Given the description of an element on the screen output the (x, y) to click on. 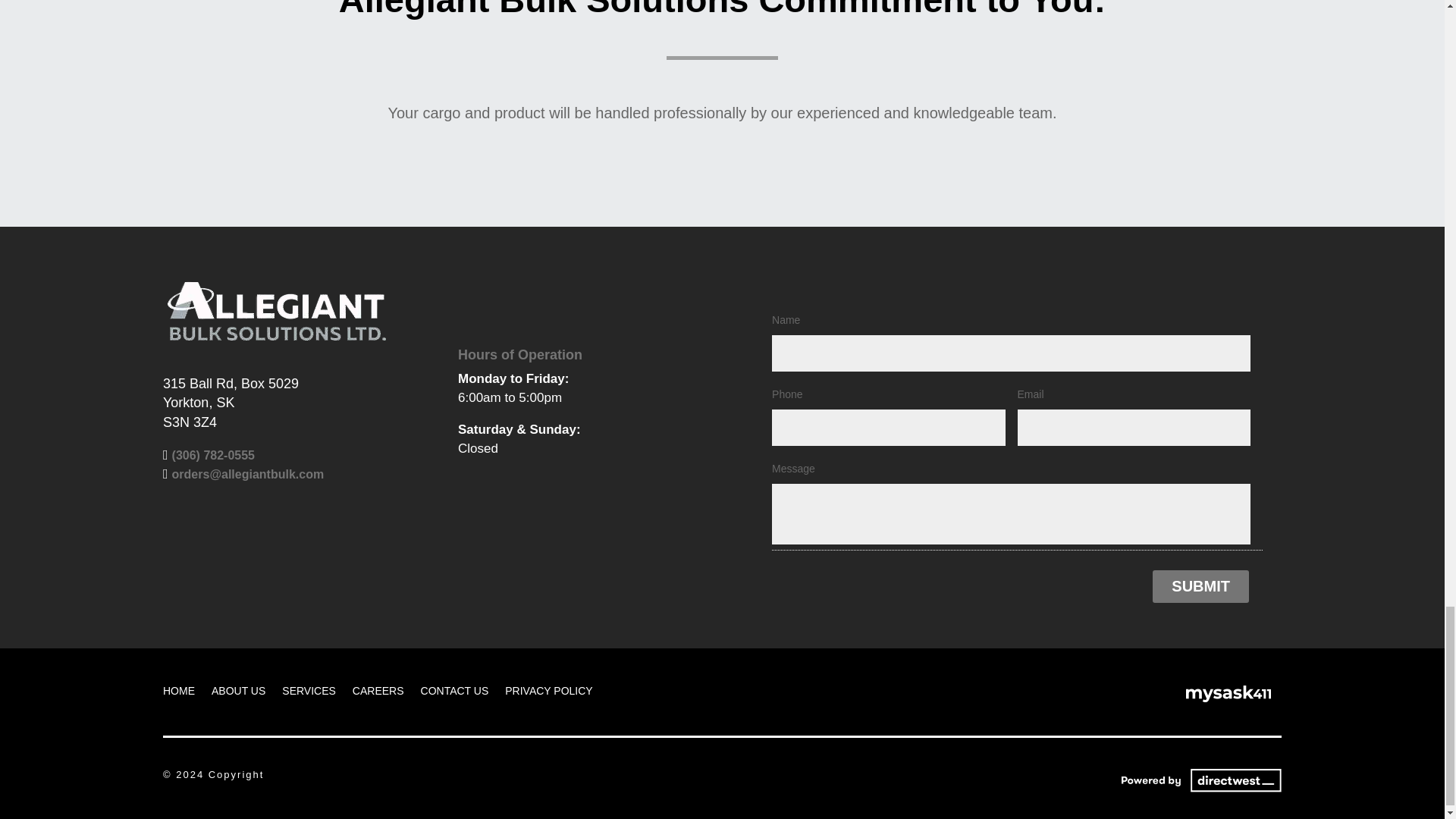
Submit (1201, 586)
powered-by-directwest-white (1195, 778)
my-sask411-logo-white (1227, 693)
Allegian-Logo (276, 311)
Submit (1201, 586)
